Given the description of an element on the screen output the (x, y) to click on. 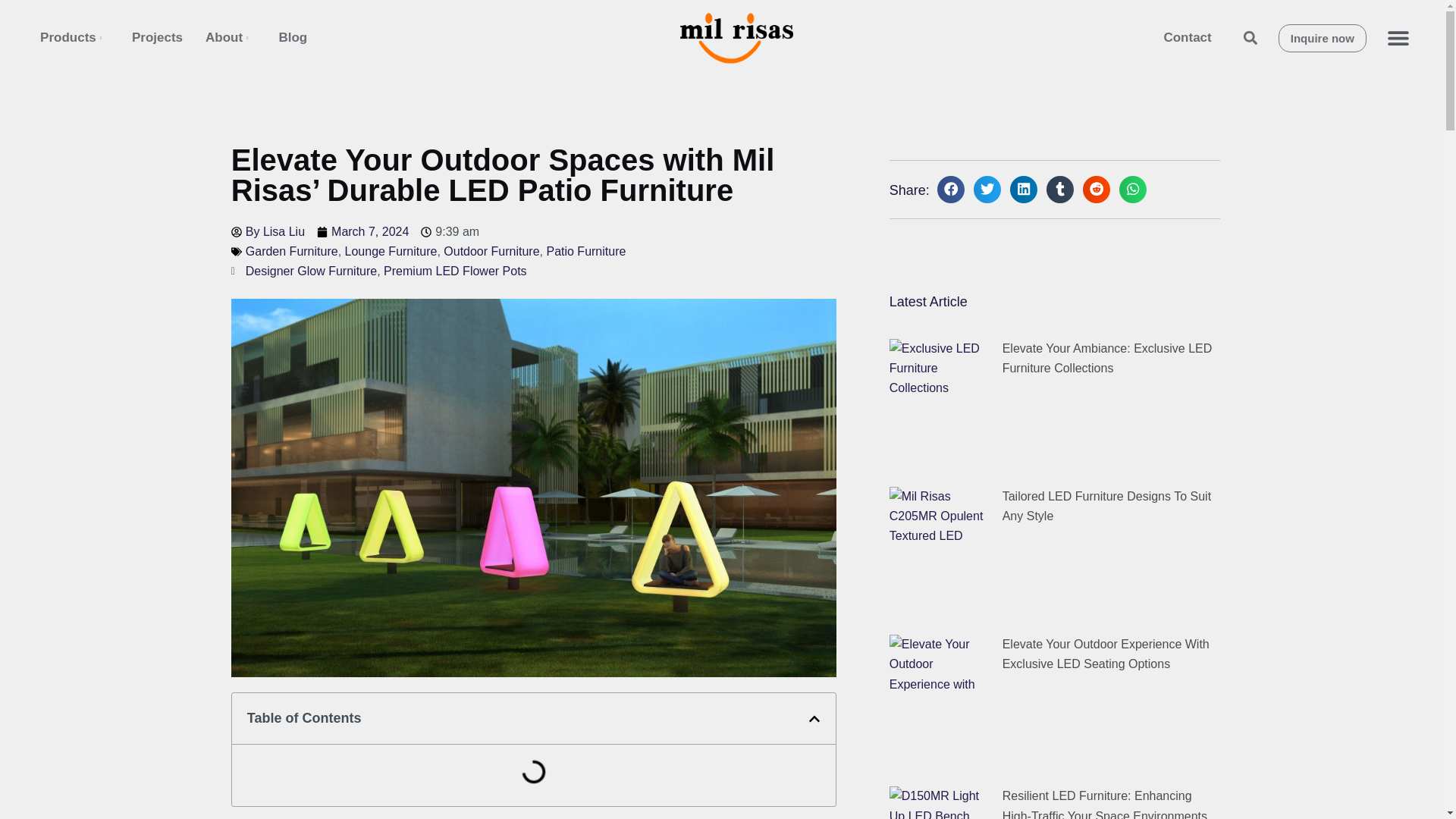
Products (74, 37)
Skip to content (15, 7)
